Given the description of an element on the screen output the (x, y) to click on. 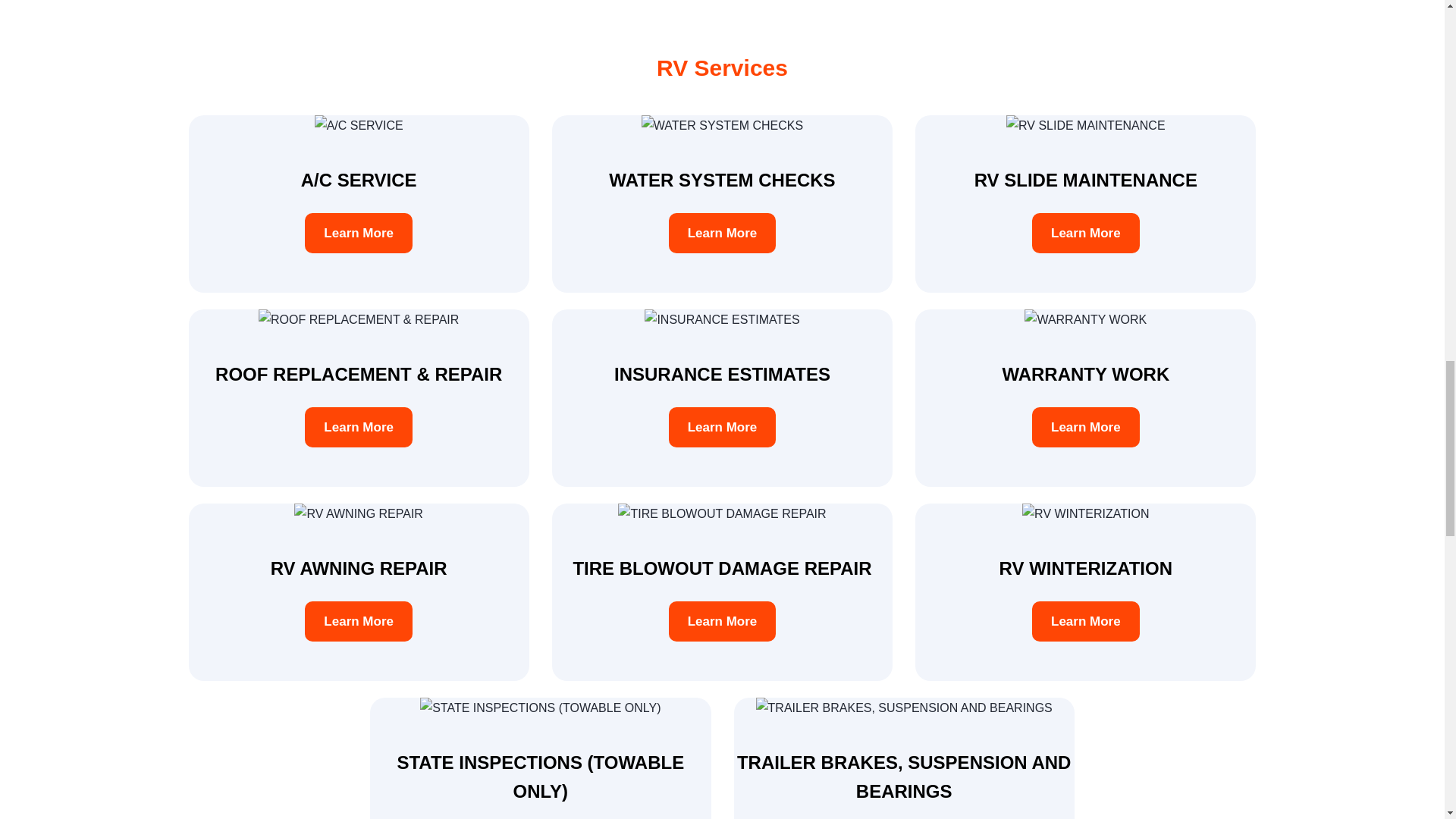
Learn More (358, 427)
Learn More (721, 203)
Learn More (722, 232)
Learn More (358, 232)
